Given the description of an element on the screen output the (x, y) to click on. 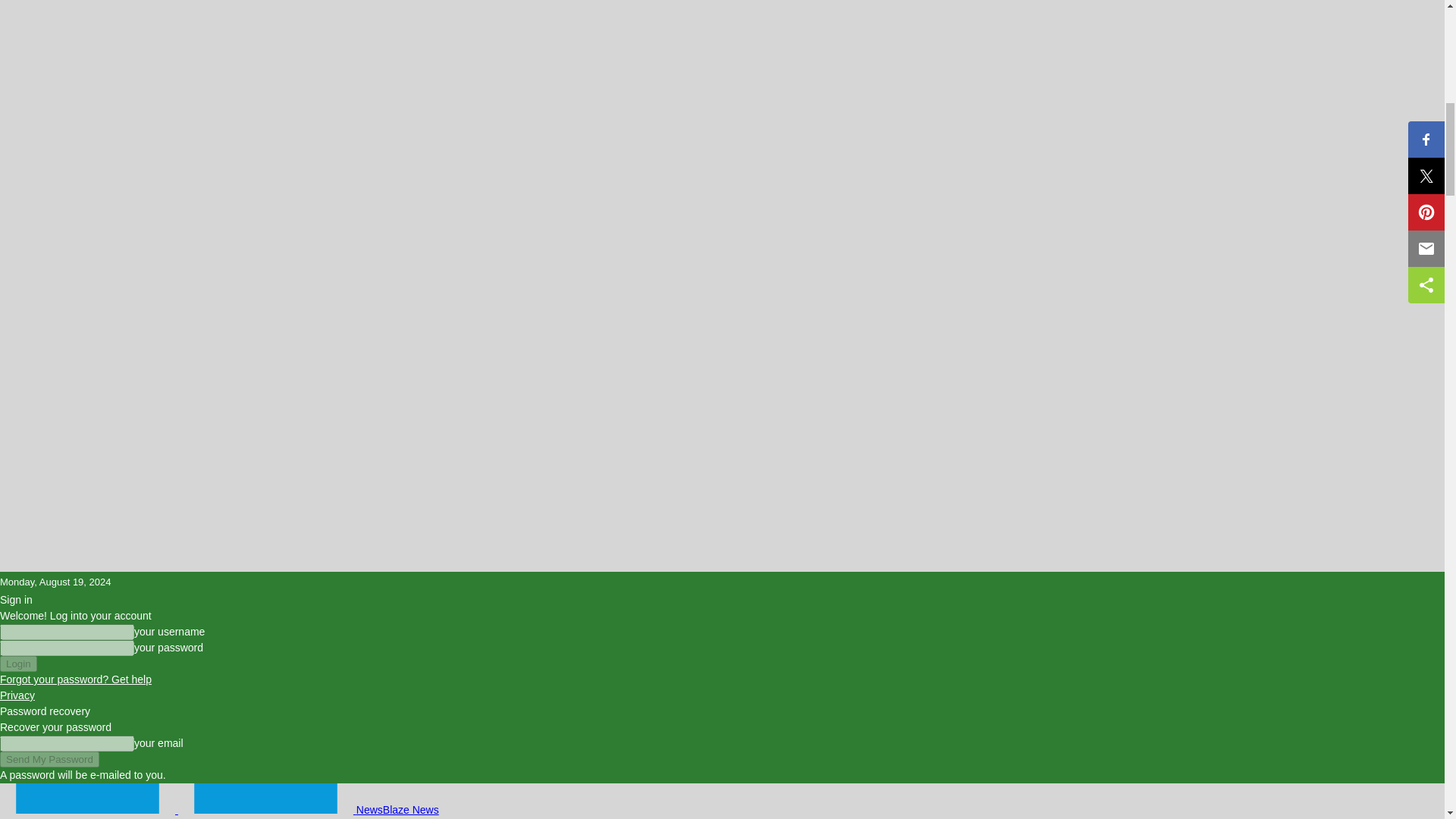
NewsBlaze News logo (87, 798)
Send My Password (49, 759)
NewsBlaze News logo (265, 798)
Login (18, 663)
